Given the description of an element on the screen output the (x, y) to click on. 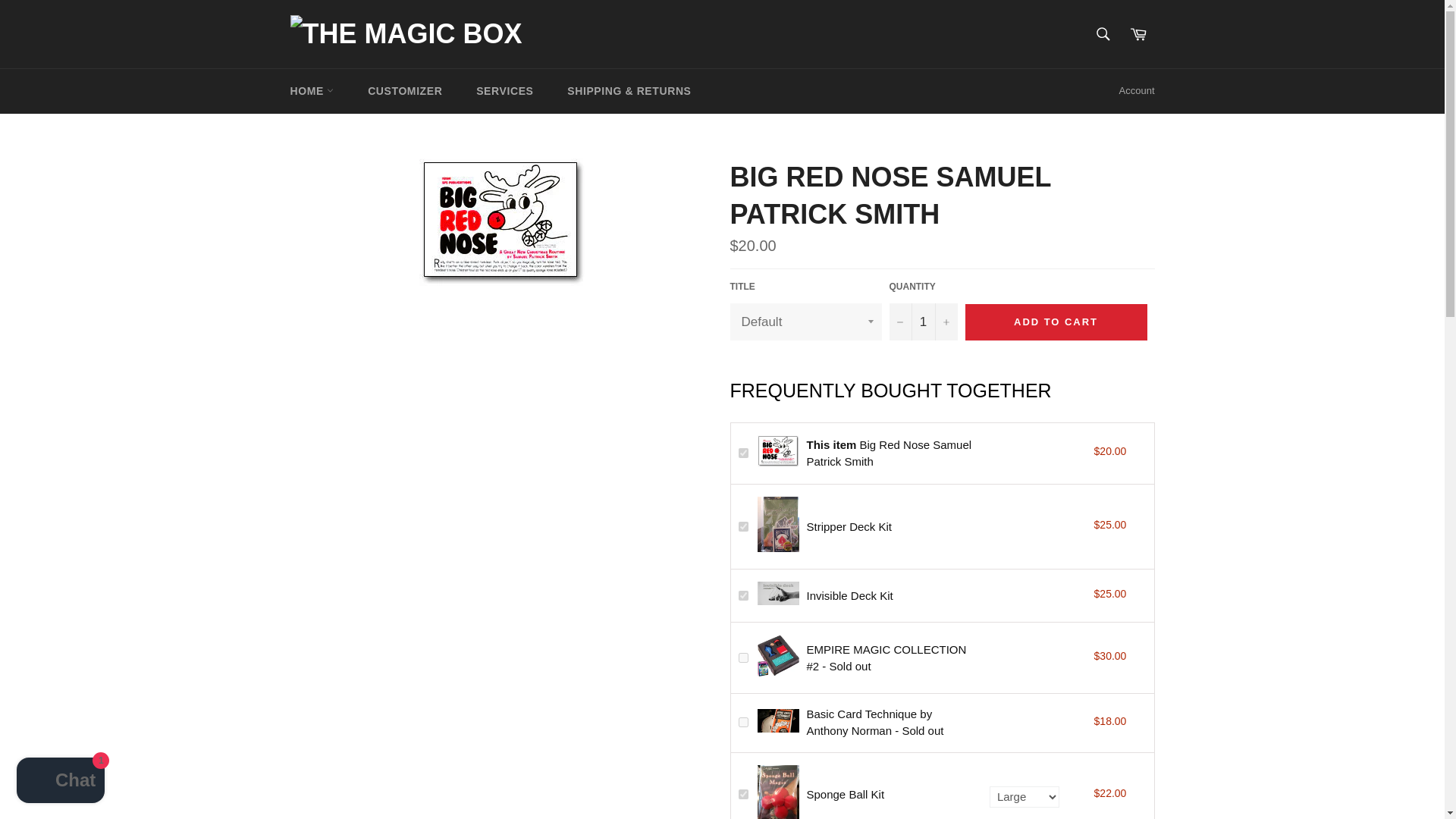
Search (1103, 33)
1 (922, 321)
Shopify online store chat (60, 781)
HOME (312, 90)
Cart (1138, 33)
